Given the description of an element on the screen output the (x, y) to click on. 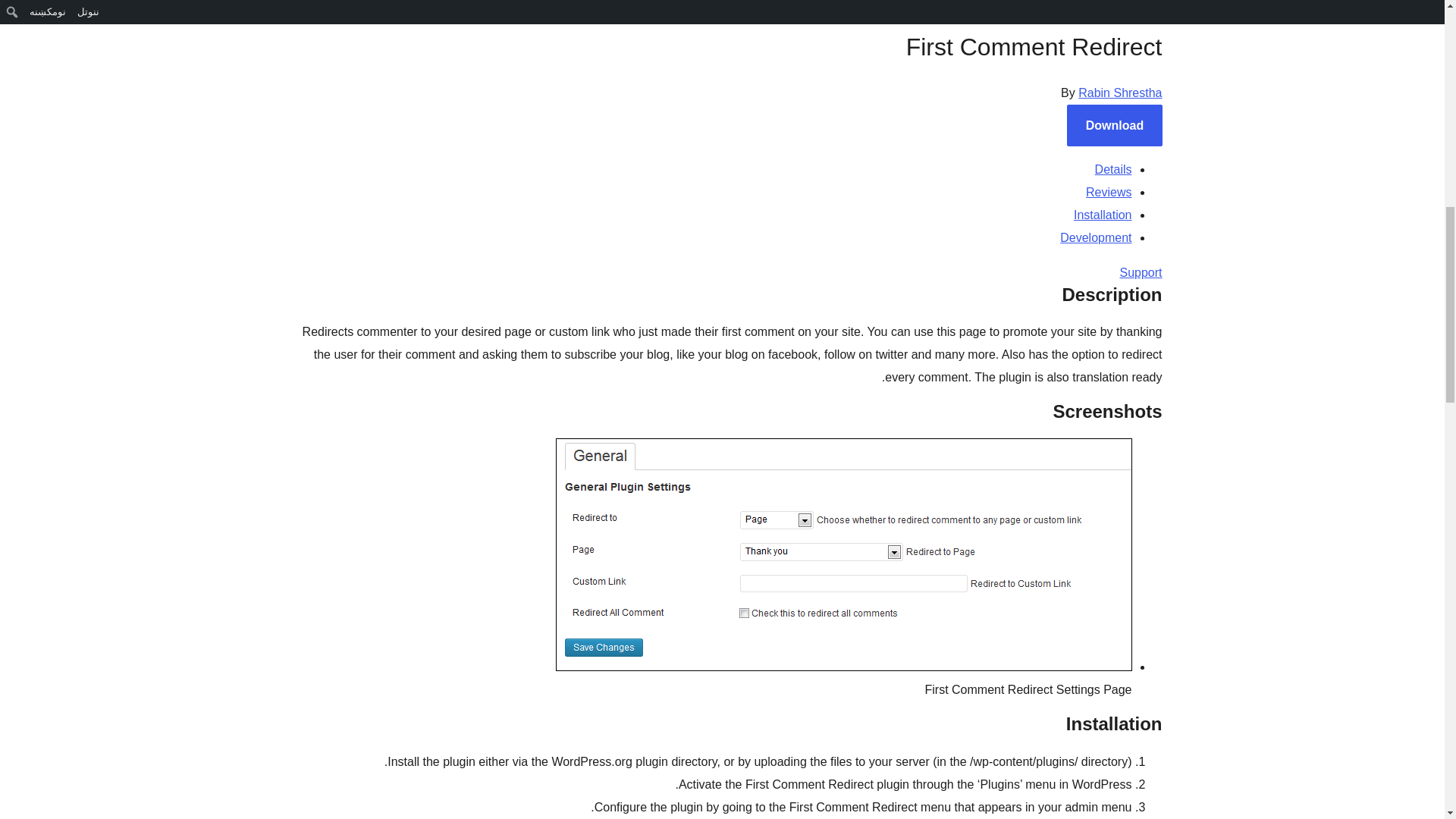
Support (1140, 272)
Details (1113, 169)
Rabin Shrestha (1119, 92)
Download (1114, 125)
Reviews (1108, 192)
Installation (1103, 214)
Development (1095, 237)
